Given the description of an element on the screen output the (x, y) to click on. 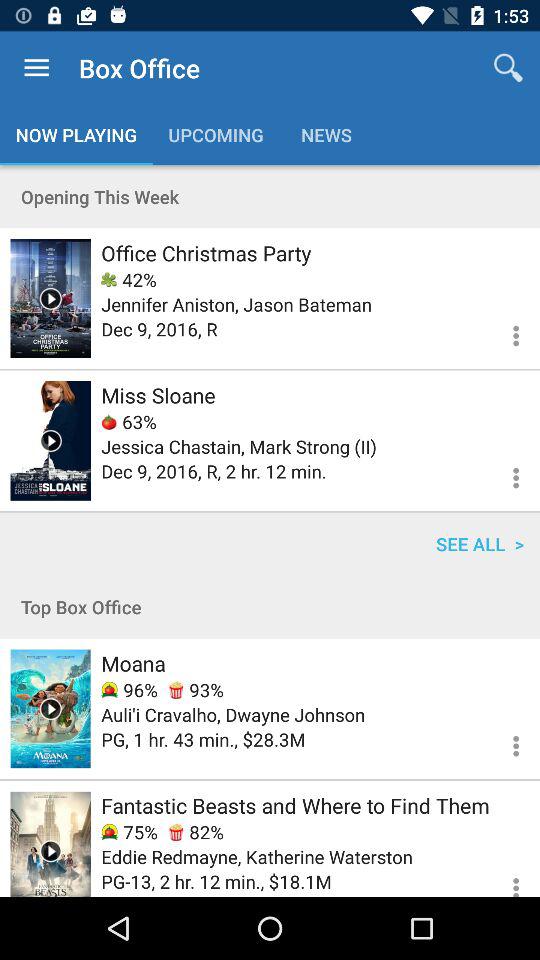
play trailer (50, 440)
